Given the description of an element on the screen output the (x, y) to click on. 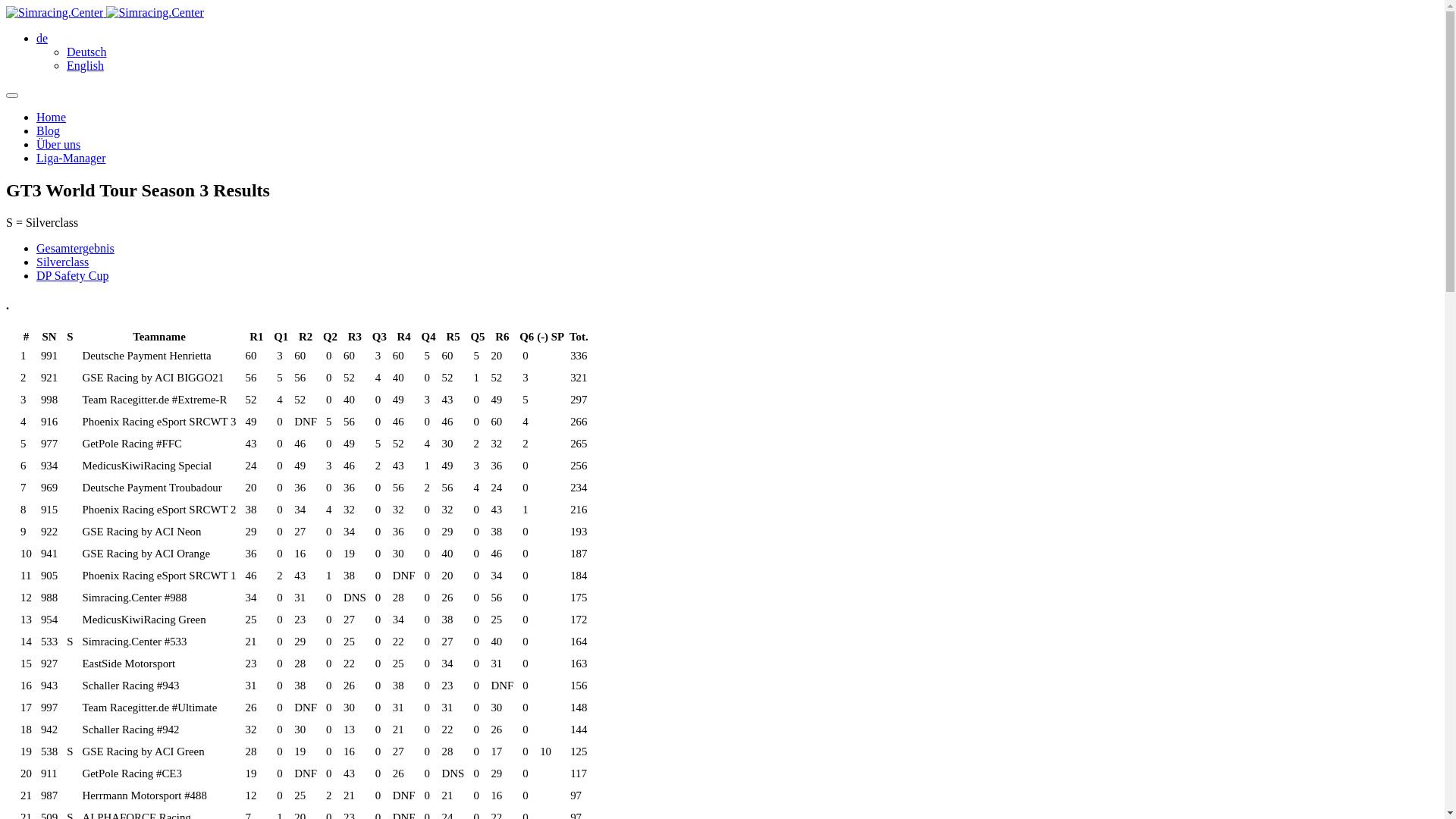
Gesamtergebnis Element type: text (75, 247)
Liga-Manager Element type: text (71, 157)
Simracing.Center Element type: hover (54, 12)
Deutsch Element type: text (86, 51)
English Element type: text (84, 65)
de Element type: text (41, 37)
Home Element type: text (50, 116)
Simracing.Center Element type: hover (154, 12)
Blog Element type: text (47, 130)
DP Safety Cup Element type: text (72, 275)
Silverclass Element type: text (62, 261)
